Given the description of an element on the screen output the (x, y) to click on. 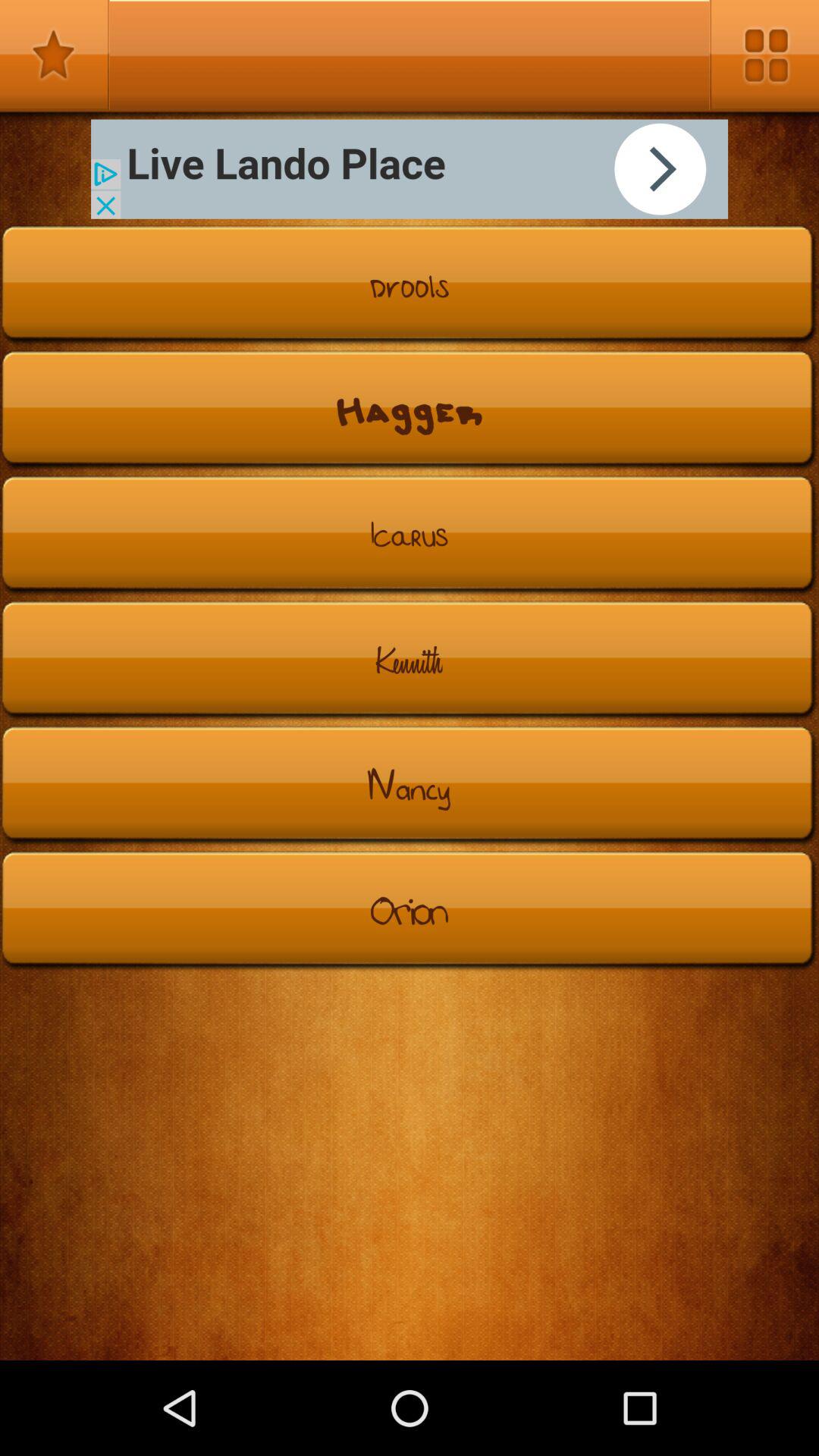
favourable button (54, 54)
